Given the description of an element on the screen output the (x, y) to click on. 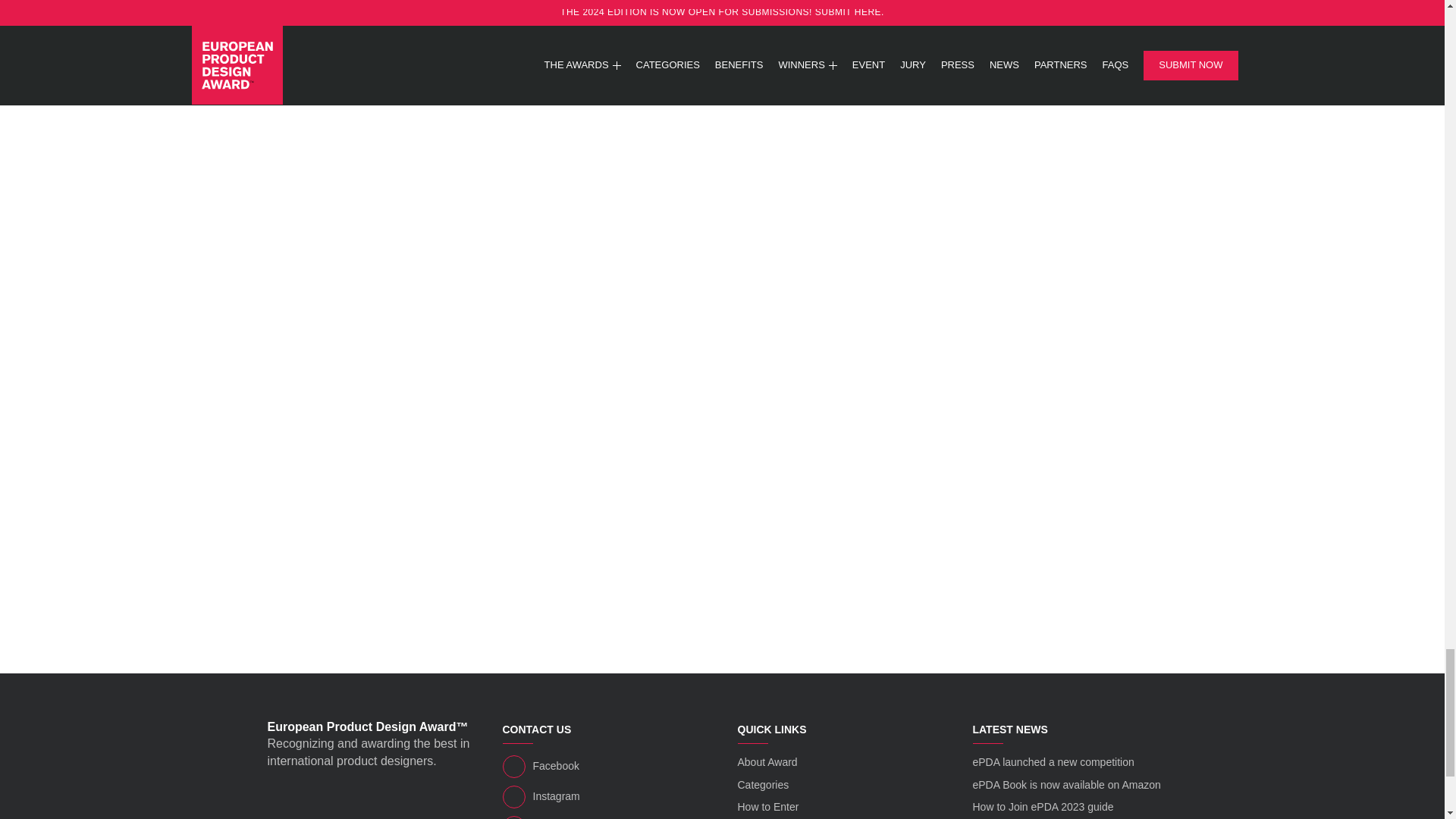
Categories (762, 784)
How to Enter (766, 806)
About Award (766, 761)
How to Join ePDA 2023 guide (1042, 806)
ePDA Book is now available on Amazon (1066, 784)
WeChat (604, 817)
ePDA launched a new competition (1053, 761)
Instagram (604, 796)
Facebook (604, 766)
